Given the description of an element on the screen output the (x, y) to click on. 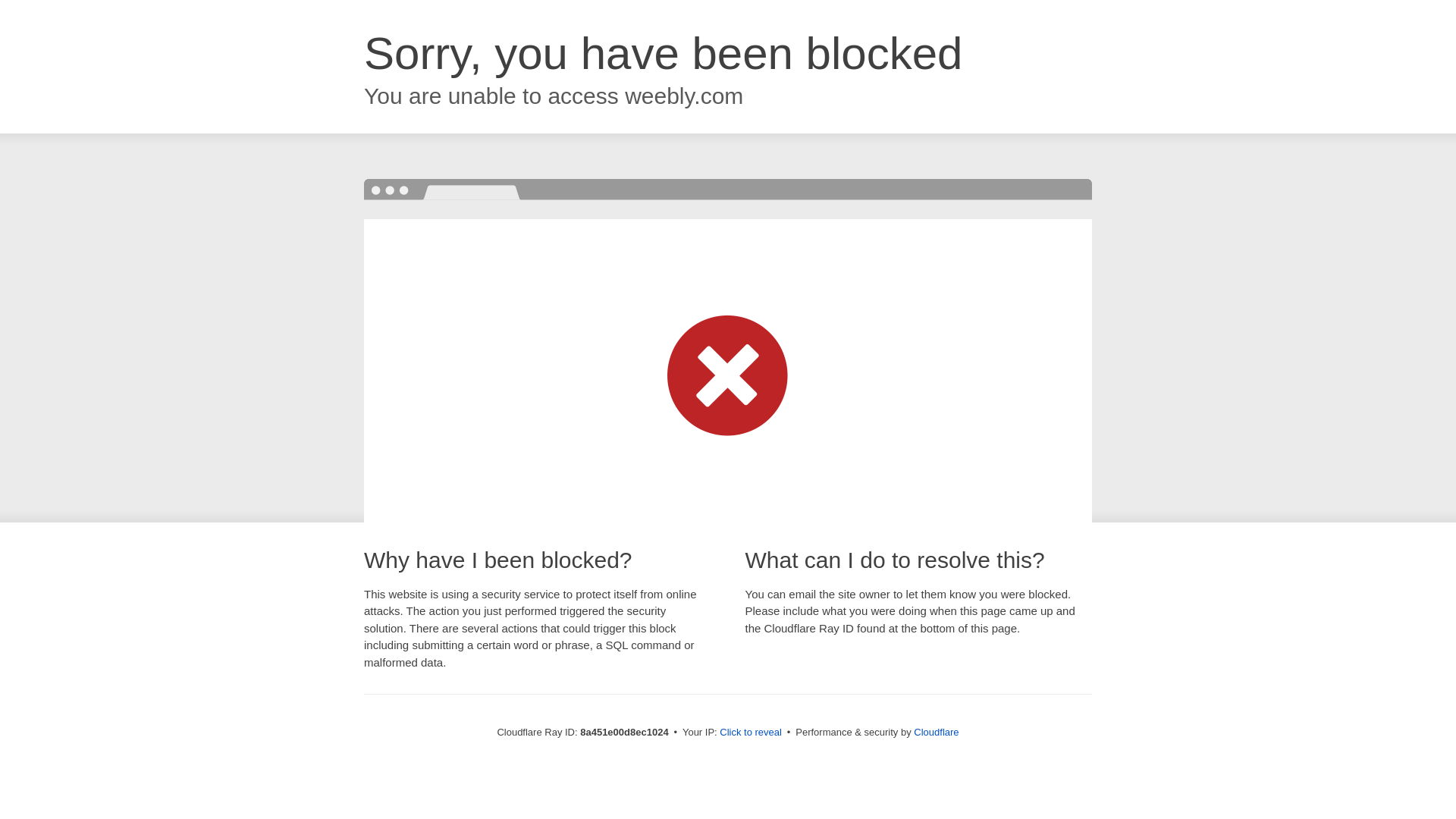
Cloudflare (936, 731)
Click to reveal (750, 732)
